Given the description of an element on the screen output the (x, y) to click on. 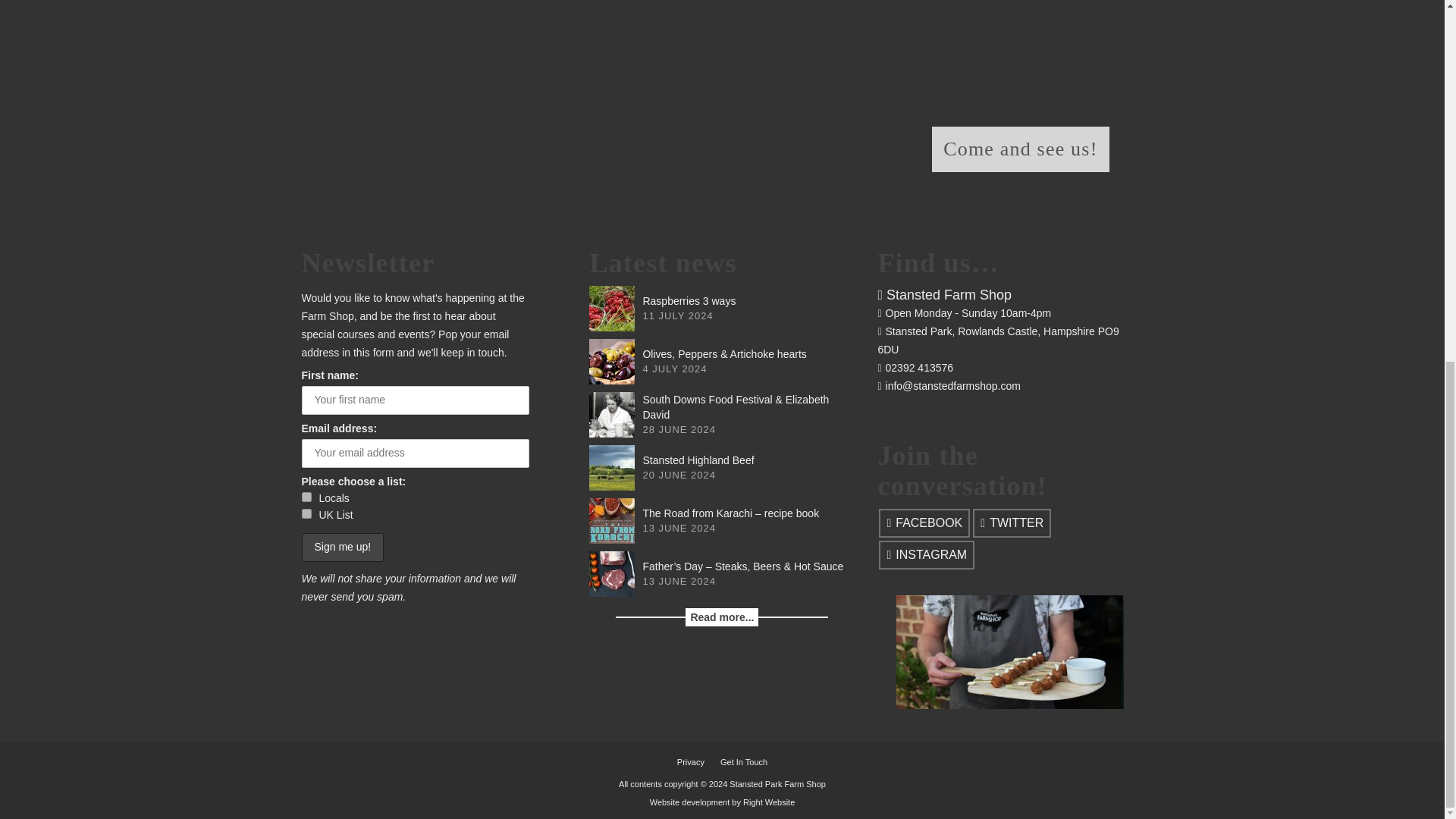
Stansted Highland Beef (698, 460)
INSTAGRAM (926, 554)
Raspberries 3 ways (688, 300)
Sign me up! (342, 547)
Raspberries 3 ways (611, 308)
Read more... (721, 616)
2a23b8a181 (306, 497)
Privacy (690, 761)
TWITTER (1011, 522)
Raspberries 3 ways (688, 300)
Sign me up! (342, 547)
Stansted Highland Beef (698, 460)
FACEBOOK (924, 522)
6731842508 (306, 513)
Stansted Highland Beef (611, 467)
